Given the description of an element on the screen output the (x, y) to click on. 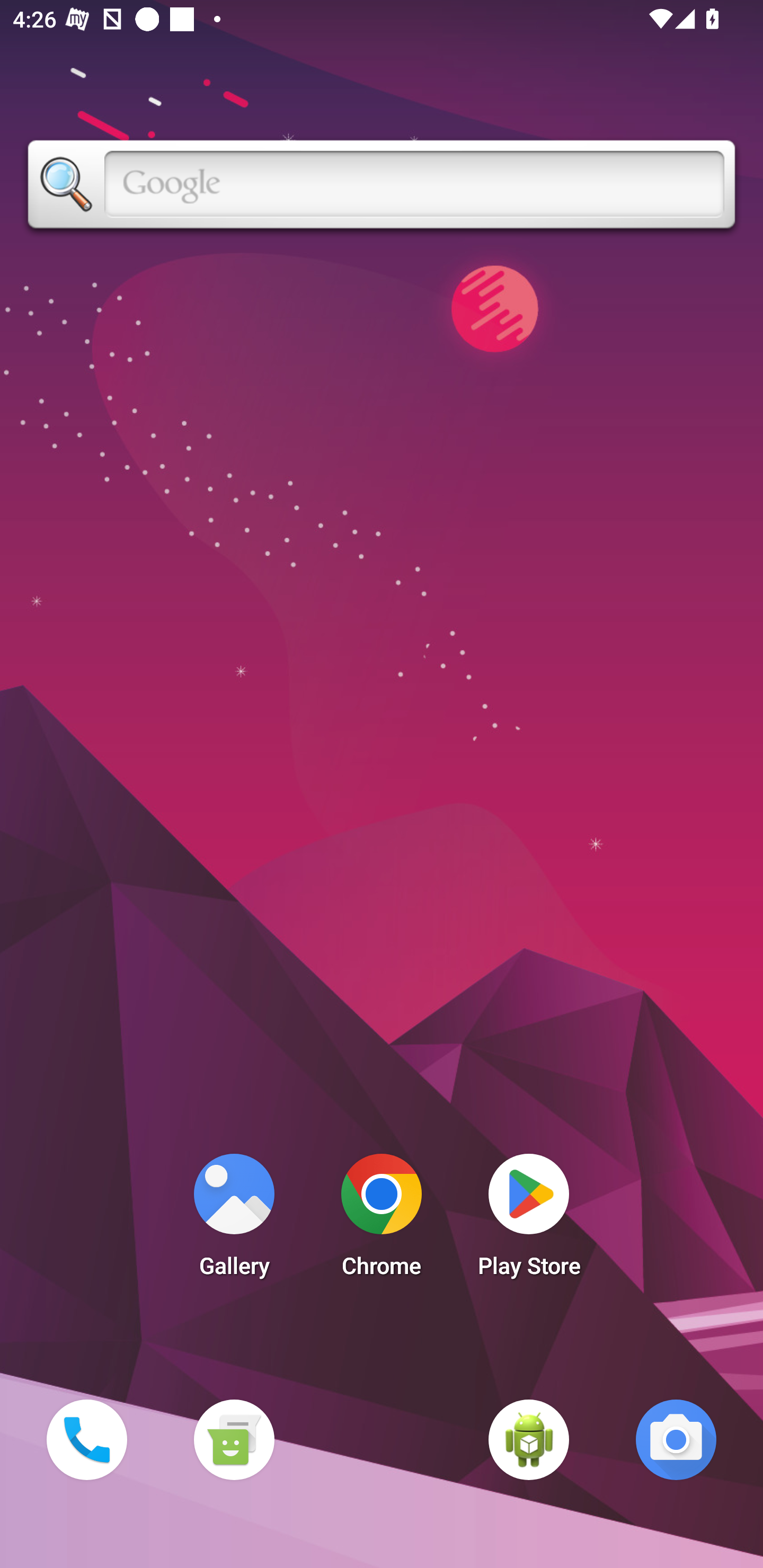
Gallery (233, 1220)
Chrome (381, 1220)
Play Store (528, 1220)
Phone (86, 1439)
Messaging (233, 1439)
WebView Browser Tester (528, 1439)
Camera (676, 1439)
